Given the description of an element on the screen output the (x, y) to click on. 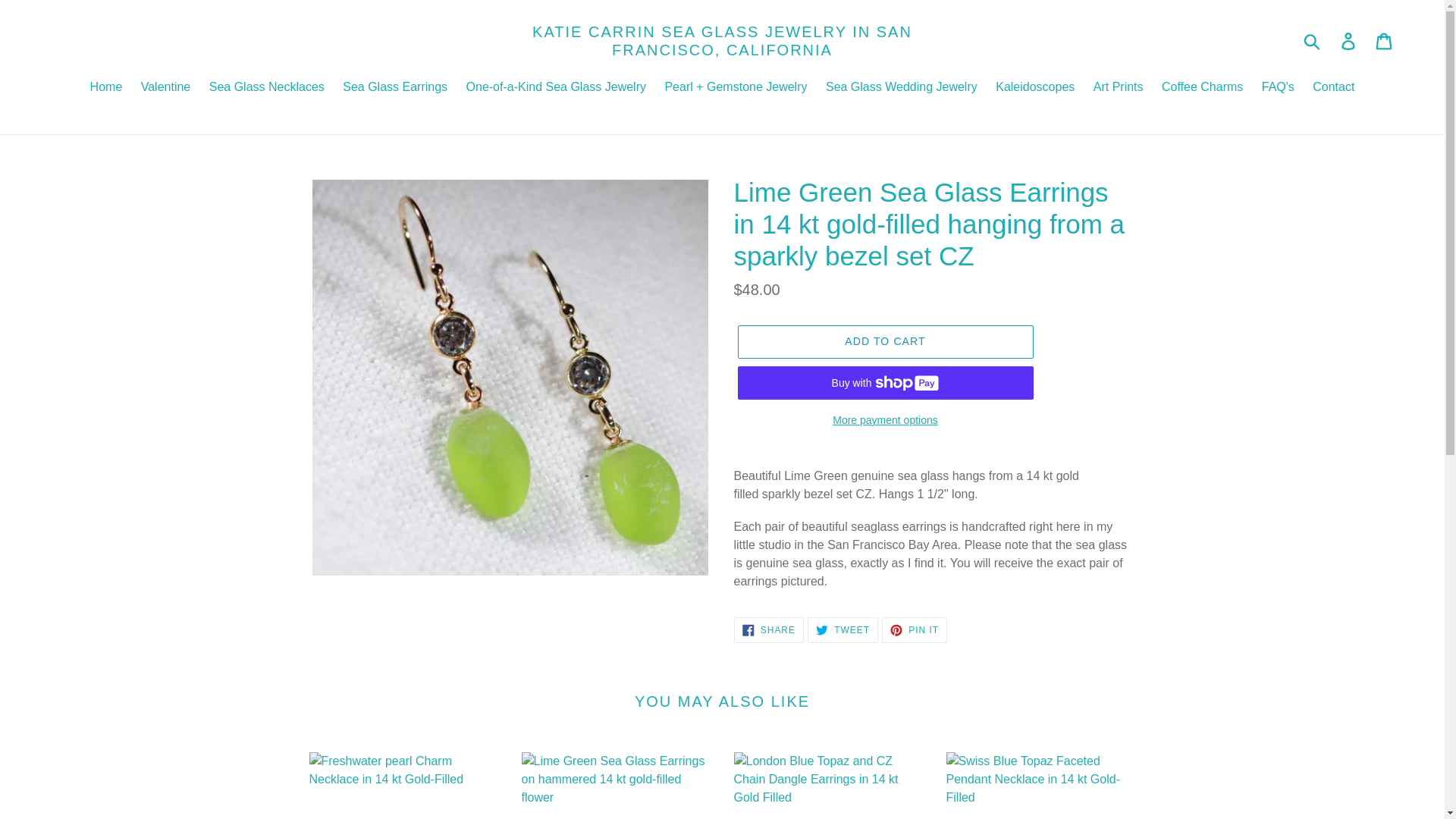
Contact (1332, 87)
Sea Glass Wedding Jewelry (842, 629)
One-of-a-Kind Sea Glass Jewelry (901, 87)
More payment options (555, 87)
Sea Glass Earrings (884, 420)
Coffee Charms (394, 87)
Cart (1202, 87)
Kaleidoscopes (1385, 40)
Sea Glass Necklaces (1034, 87)
